Given the description of an element on the screen output the (x, y) to click on. 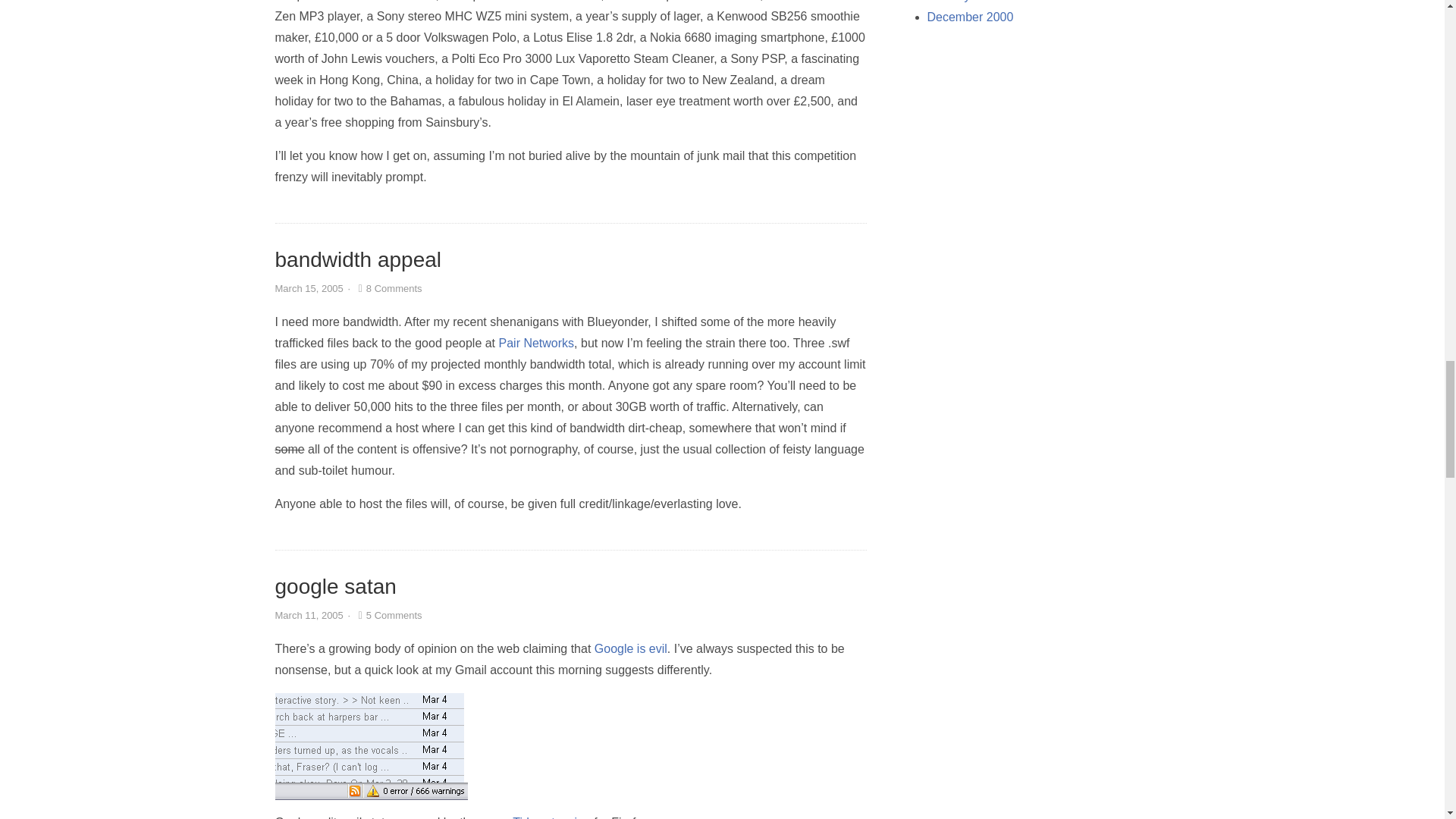
googleevil (371, 746)
8 Comments (388, 288)
Permanent Link to bandwidth appeal (358, 259)
Permanent Link to google satan (335, 586)
HyperText Markup Language (494, 817)
Pair Networks (537, 342)
google satan (335, 586)
5 Comments (388, 614)
Google is evil (630, 648)
bandwidth appeal (358, 259)
HTML Tidy extension (535, 817)
